Given the description of an element on the screen output the (x, y) to click on. 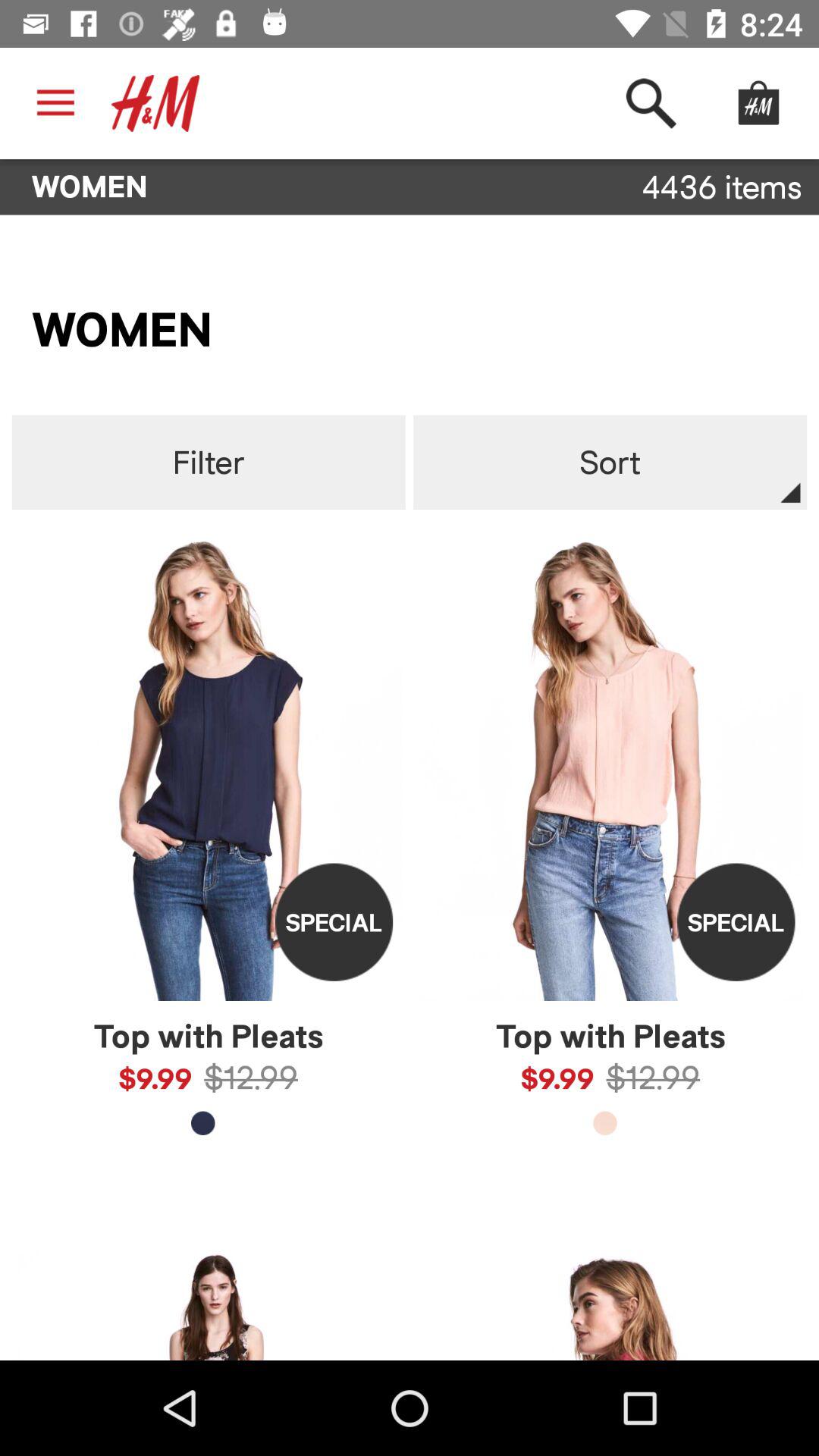
click the icon above women (155, 103)
